Given the description of an element on the screen output the (x, y) to click on. 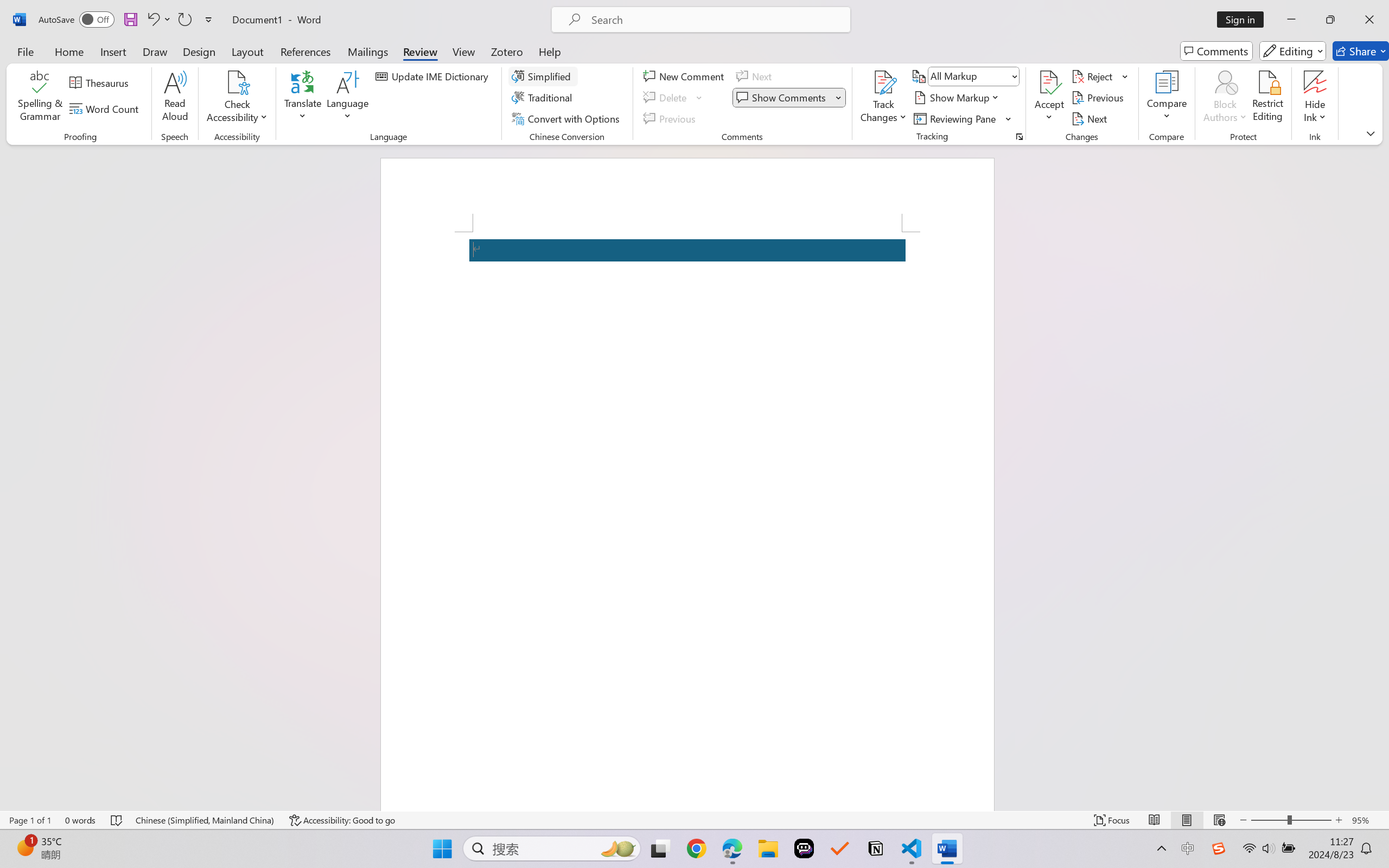
Block Authors (1224, 81)
Update IME Dictionary... (433, 75)
Thesaurus... (101, 82)
Previous (1099, 97)
Next (1090, 118)
Accept and Move to Next (1049, 81)
Show Comments (782, 97)
Show Comments (788, 97)
